Given the description of an element on the screen output the (x, y) to click on. 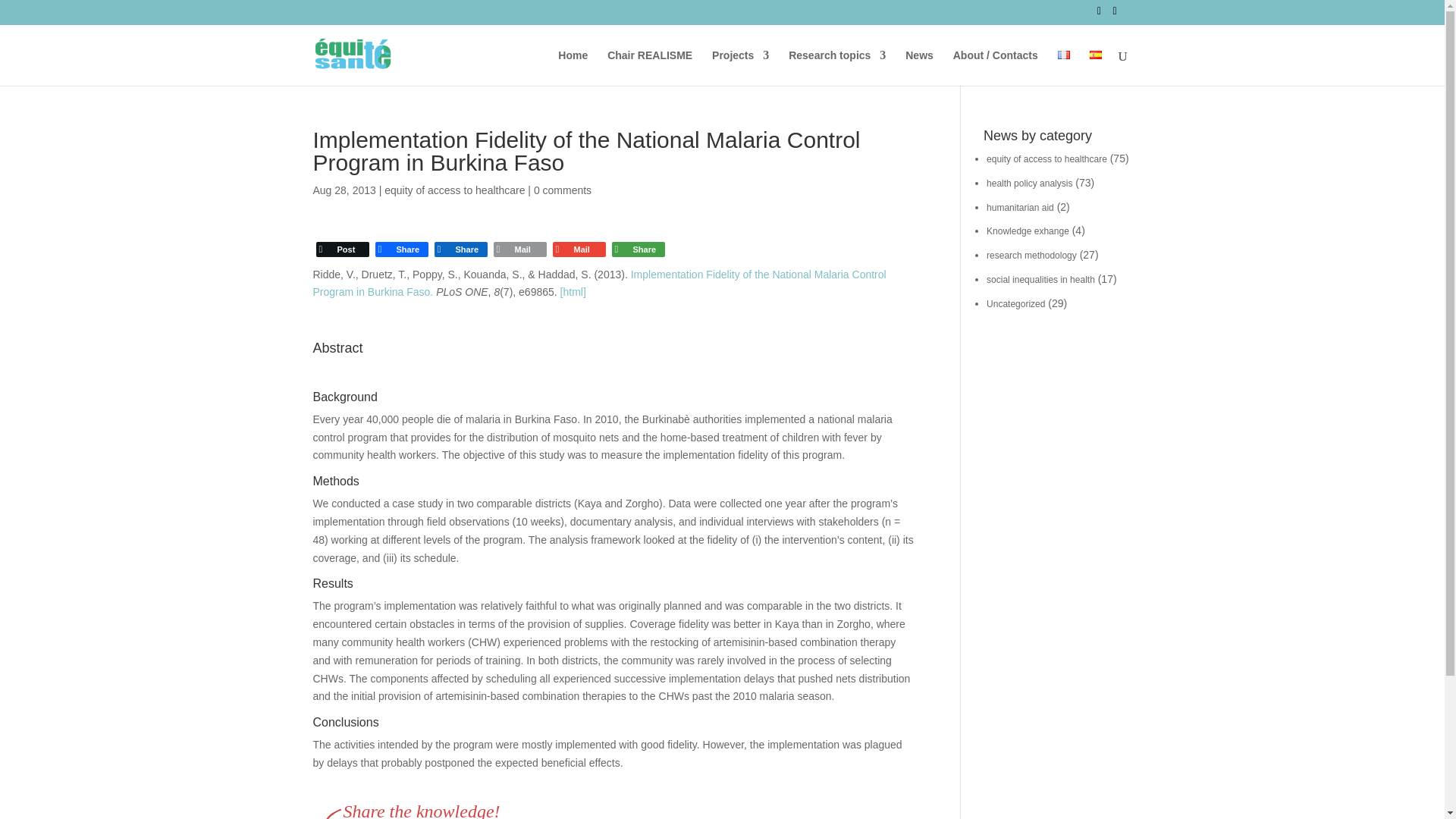
Facebook (400, 249)
Projects (739, 67)
LinkedIn (459, 249)
Google Gmail (578, 249)
Email This (518, 249)
More Options (637, 249)
Chair REALISME (650, 67)
Research topics (837, 67)
equity of access to healthcare (454, 190)
